Given the description of an element on the screen output the (x, y) to click on. 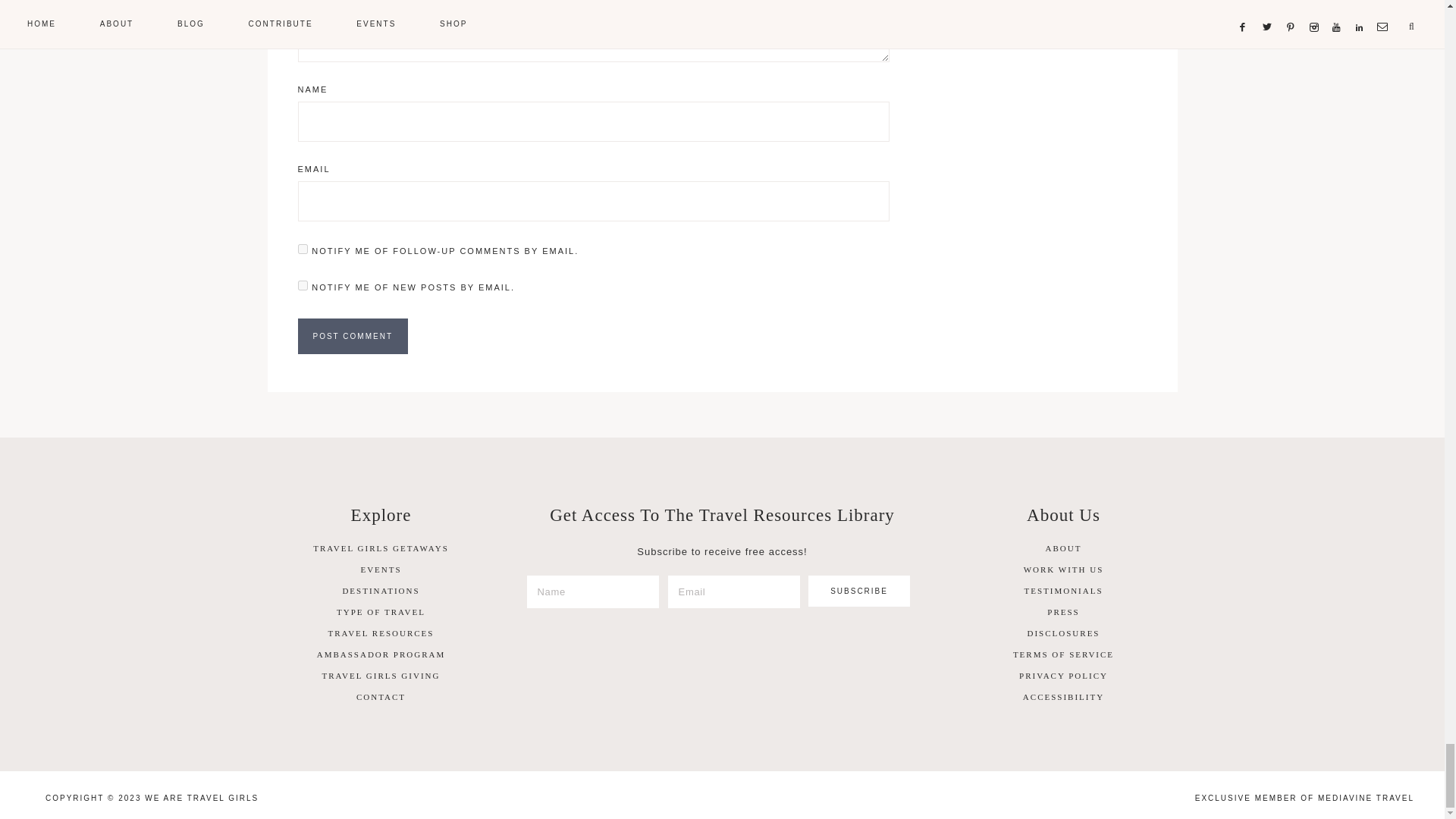
subscribe (302, 248)
subscribe (302, 285)
Subscribe (859, 590)
Post Comment (352, 335)
